Given the description of an element on the screen output the (x, y) to click on. 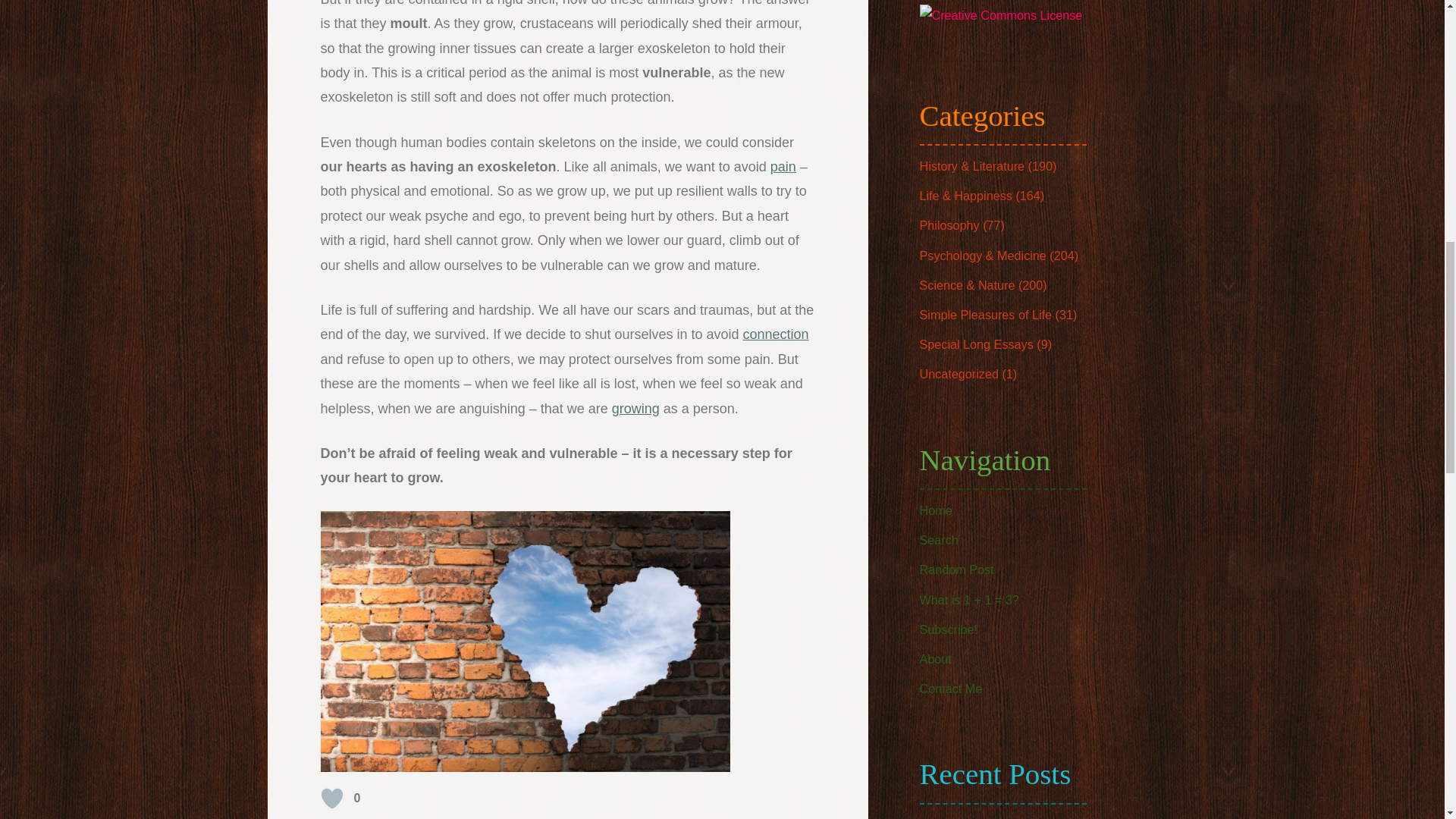
pain (783, 166)
connection (775, 334)
growing (635, 408)
